Given the description of an element on the screen output the (x, y) to click on. 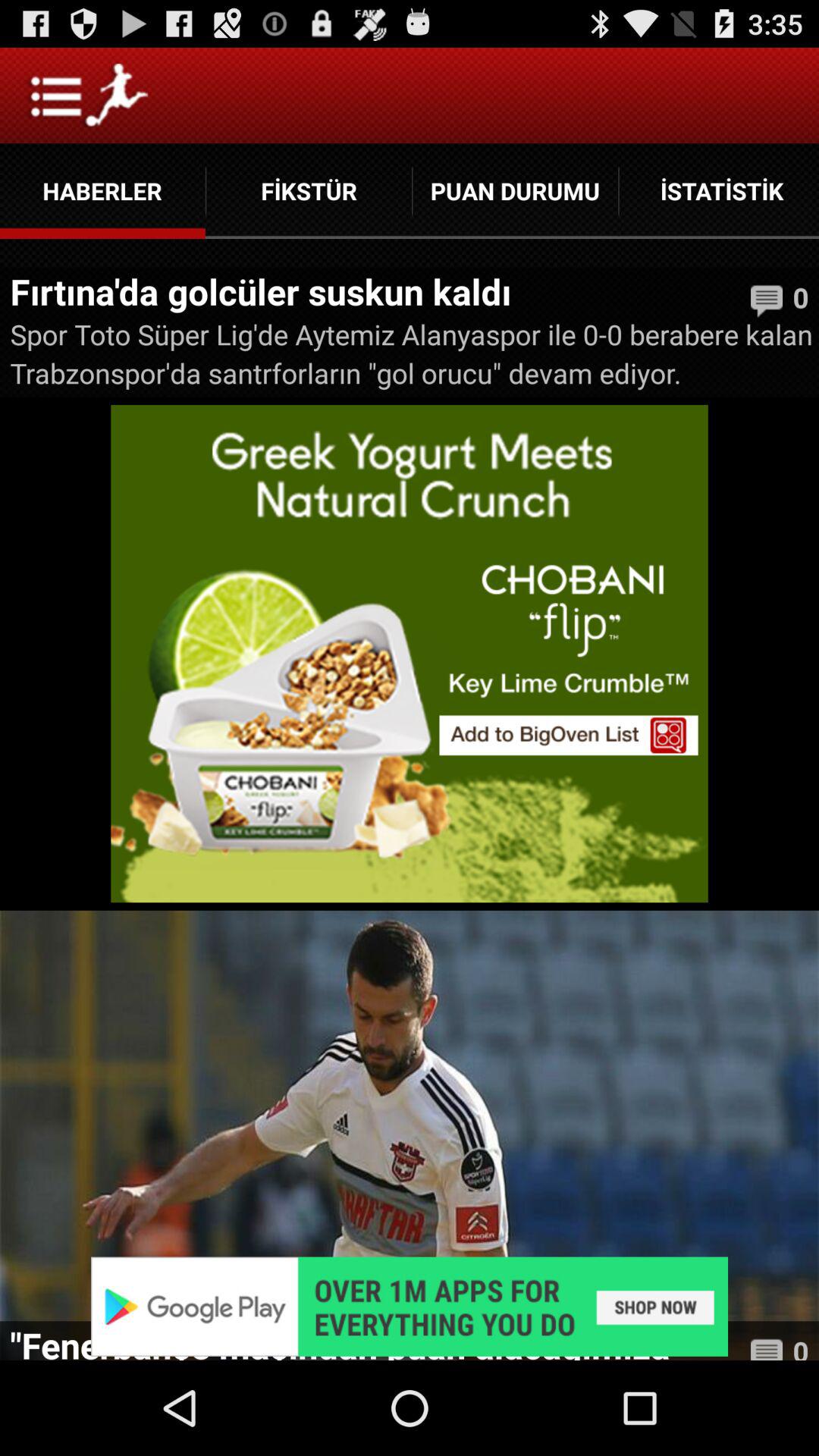
select the google play (409, 1306)
